Given the description of an element on the screen output the (x, y) to click on. 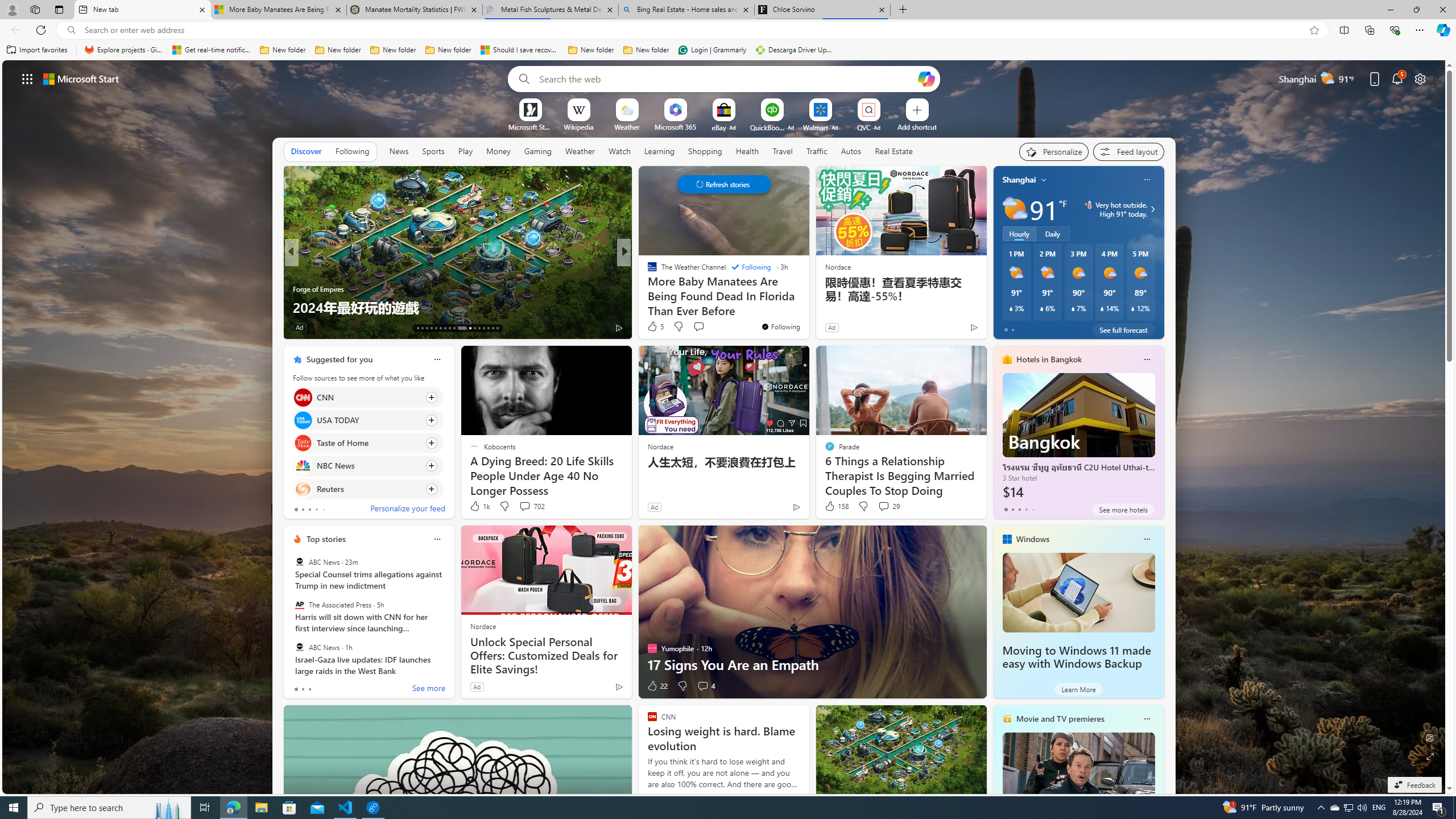
146 Like (654, 327)
Wikipedia (578, 126)
hotels-header-icon (1006, 358)
Enter your search term (726, 78)
AutomationID: tab-22 (458, 328)
Microsoft Start Gaming (529, 126)
269 Like (654, 327)
Following (751, 266)
Class: control (723, 184)
Autos (851, 151)
5 Like (655, 326)
Expand background (1430, 756)
